Given the description of an element on the screen output the (x, y) to click on. 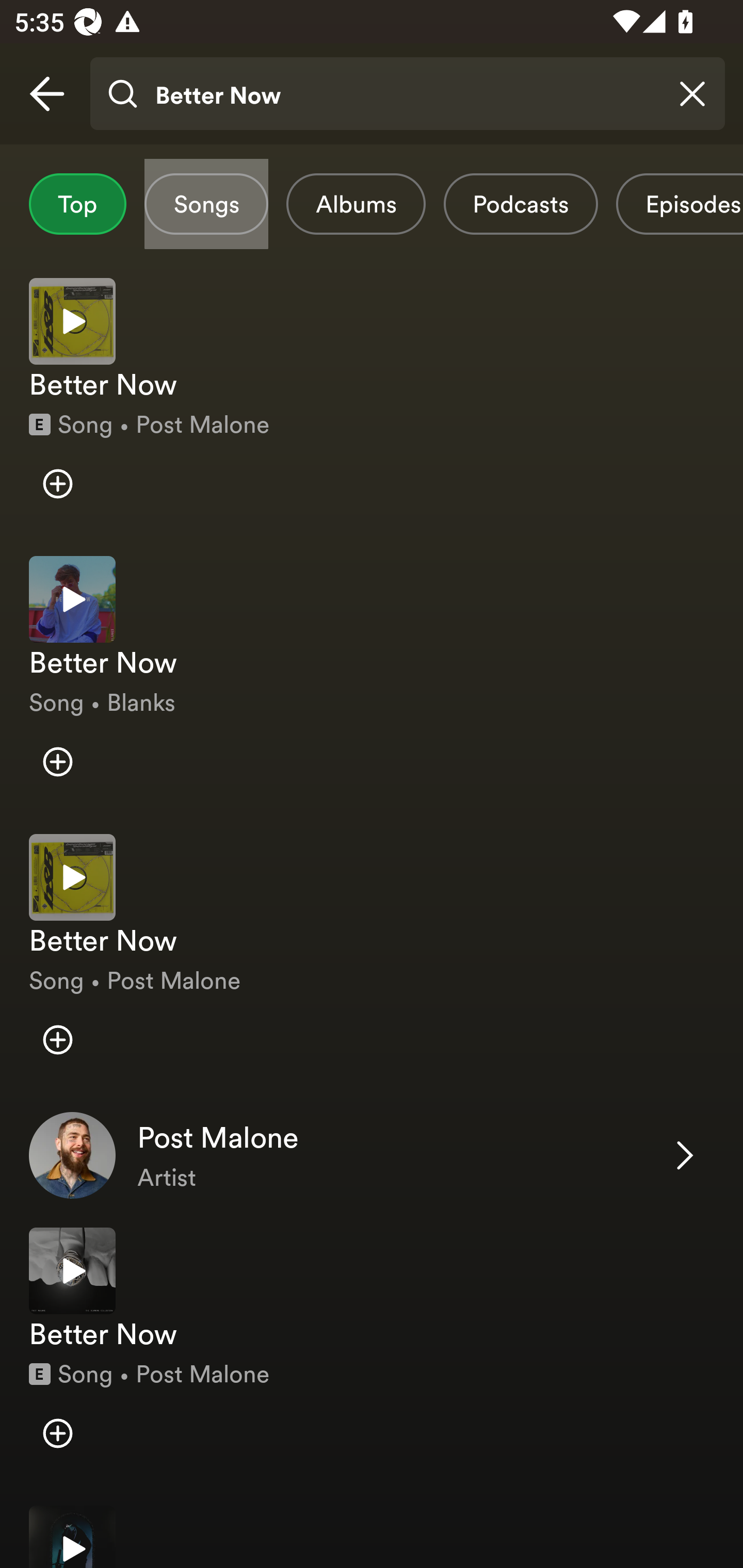
Back (46, 93)
Better Now Search (407, 94)
Clear Search (692, 94)
Top (77, 203)
Songs (206, 203)
Albums (355, 203)
Podcasts (520, 203)
Episodes (679, 203)
Play preview (71, 321)
Add item (57, 483)
Play preview Better Now Song • Blanks Add item (371, 680)
Play preview (71, 599)
Add item (57, 761)
Play preview (71, 877)
Add item (57, 1040)
Post Malone Artist (371, 1155)
Play preview (71, 1270)
Add item (57, 1433)
Play preview (71, 1536)
